Given the description of an element on the screen output the (x, y) to click on. 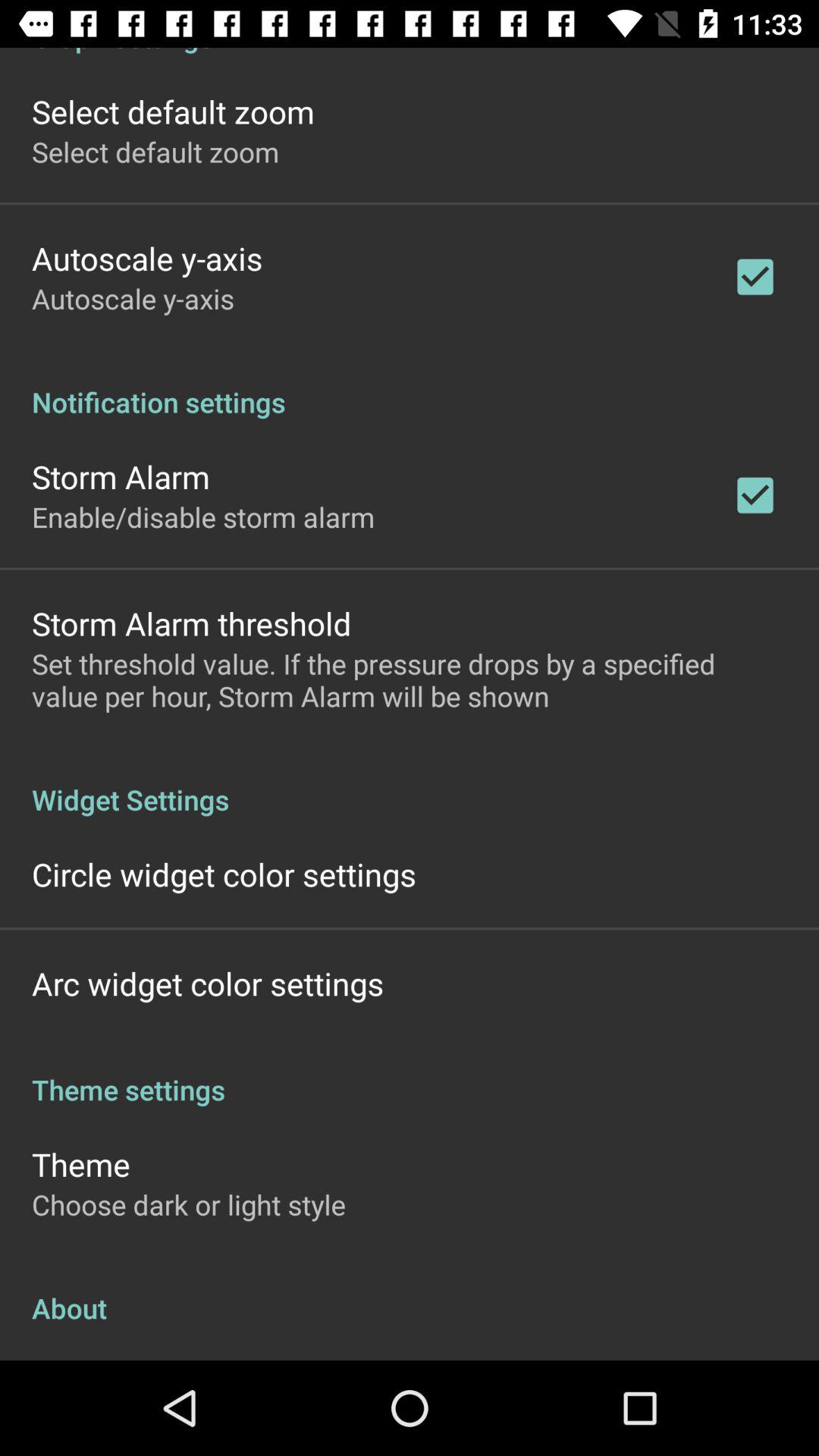
select enable disable storm app (202, 516)
